Given the description of an element on the screen output the (x, y) to click on. 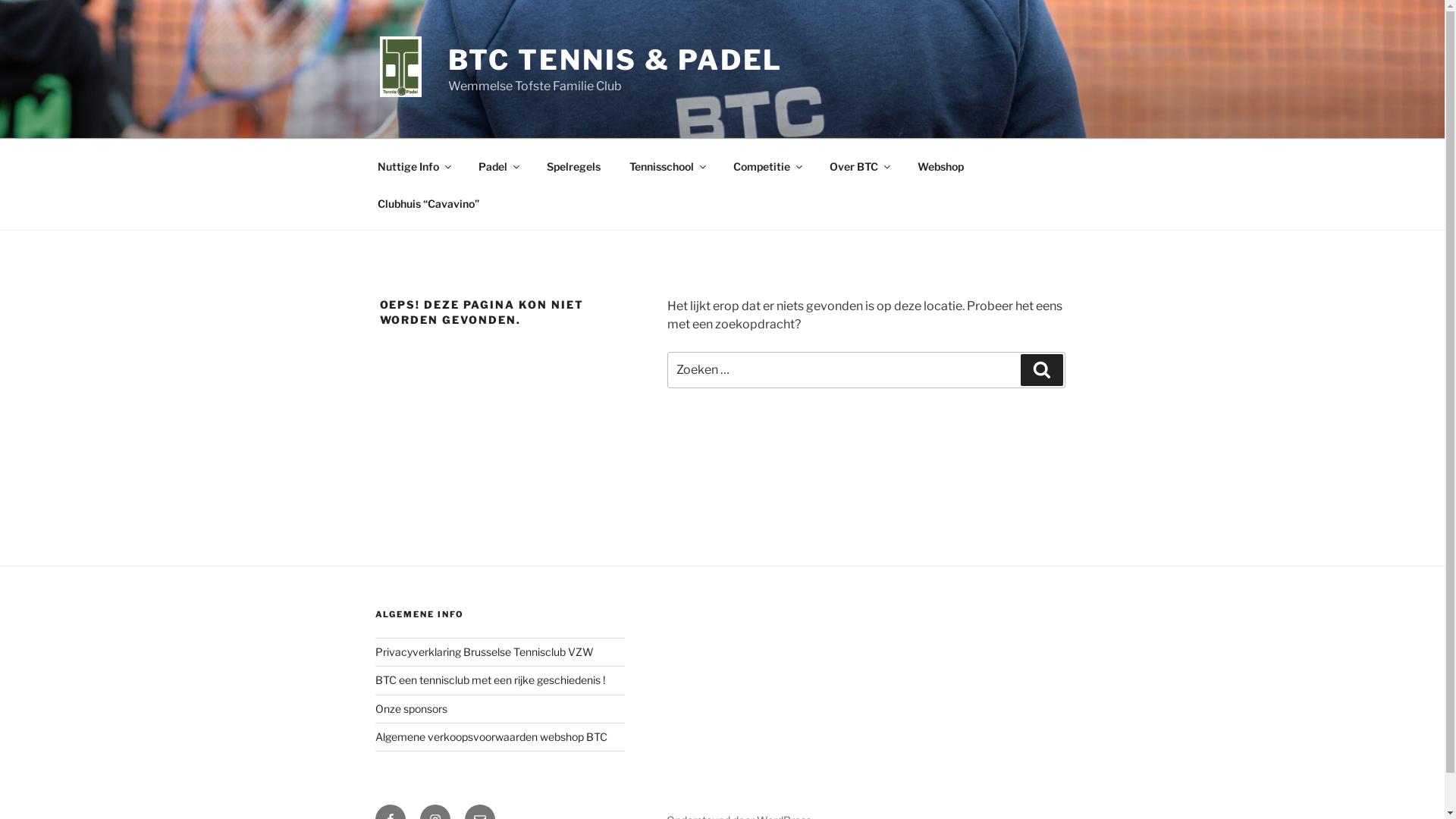
Onze sponsors Element type: text (410, 708)
Competitie Element type: text (767, 165)
Over BTC Element type: text (858, 165)
BTC een tennisclub met een rijke geschiedenis ! Element type: text (489, 679)
Spelregels Element type: text (573, 165)
Algemene verkoopsvoorwaarden webshop BTC Element type: text (490, 736)
Zoeken Element type: text (1041, 369)
Padel Element type: text (498, 165)
Privacyverklaring Brusselse Tennisclub VZW Element type: text (483, 651)
BTC TENNIS & PADEL Element type: text (615, 59)
Tennisschool Element type: text (666, 165)
Webshop Element type: text (939, 165)
Nuttige Info Element type: text (413, 165)
